Given the description of an element on the screen output the (x, y) to click on. 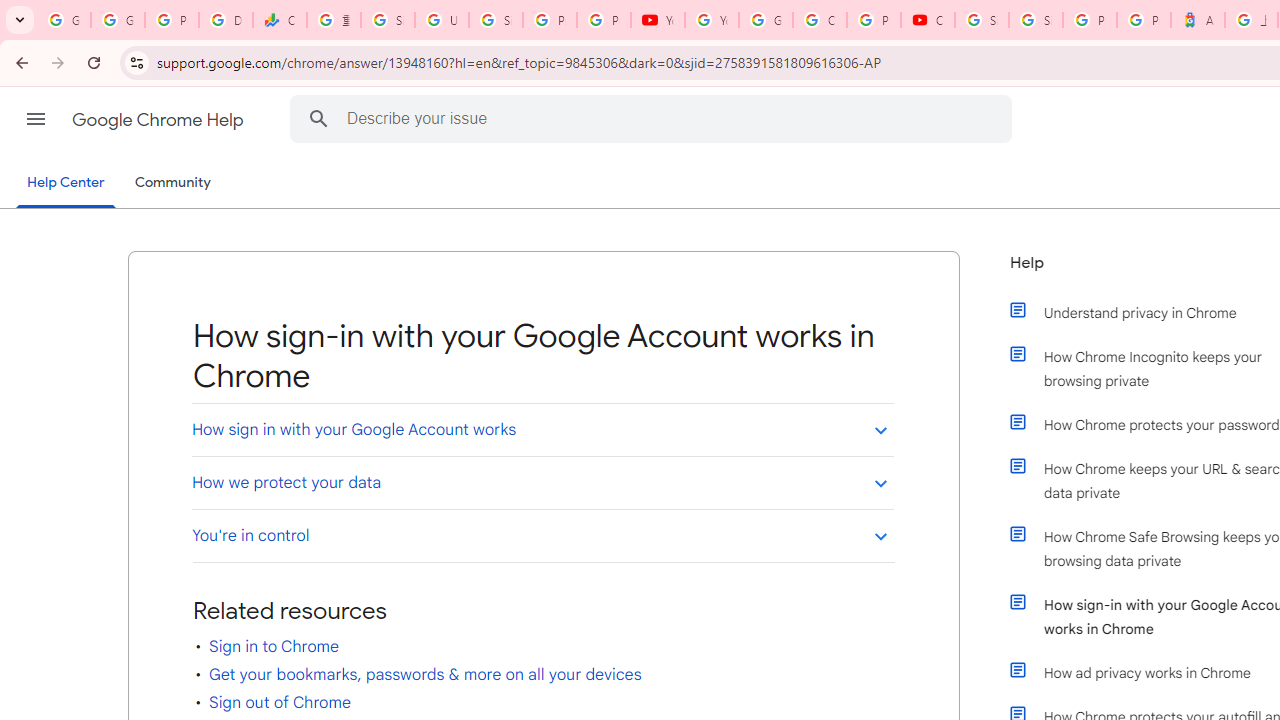
Sign in - Google Accounts (387, 20)
Privacy Checkup (604, 20)
Content Creator Programs & Opportunities - YouTube Creators (927, 20)
Google Chrome Help (159, 119)
YouTube (657, 20)
How we protect your data (542, 482)
Atour Hotel - Google hotels (1197, 20)
Get your bookmarks, passwords & more on all your devices (425, 674)
Community (171, 183)
